Given the description of an element on the screen output the (x, y) to click on. 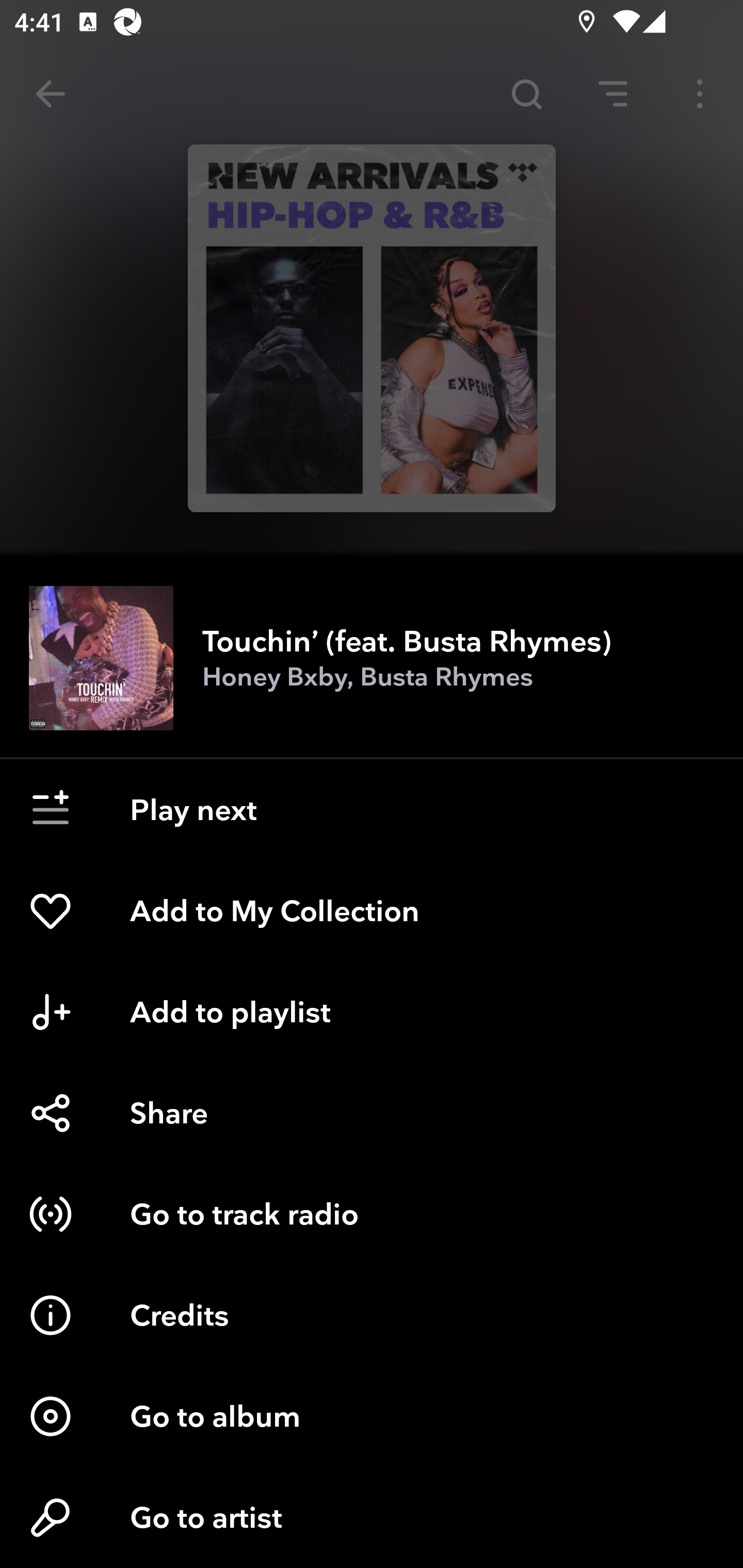
Play next (371, 809)
Add to My Collection (371, 910)
Add to playlist (371, 1012)
Share (371, 1113)
Go to track radio (371, 1214)
Credits (371, 1315)
Go to album (371, 1416)
Go to artist (371, 1517)
